Given the description of an element on the screen output the (x, y) to click on. 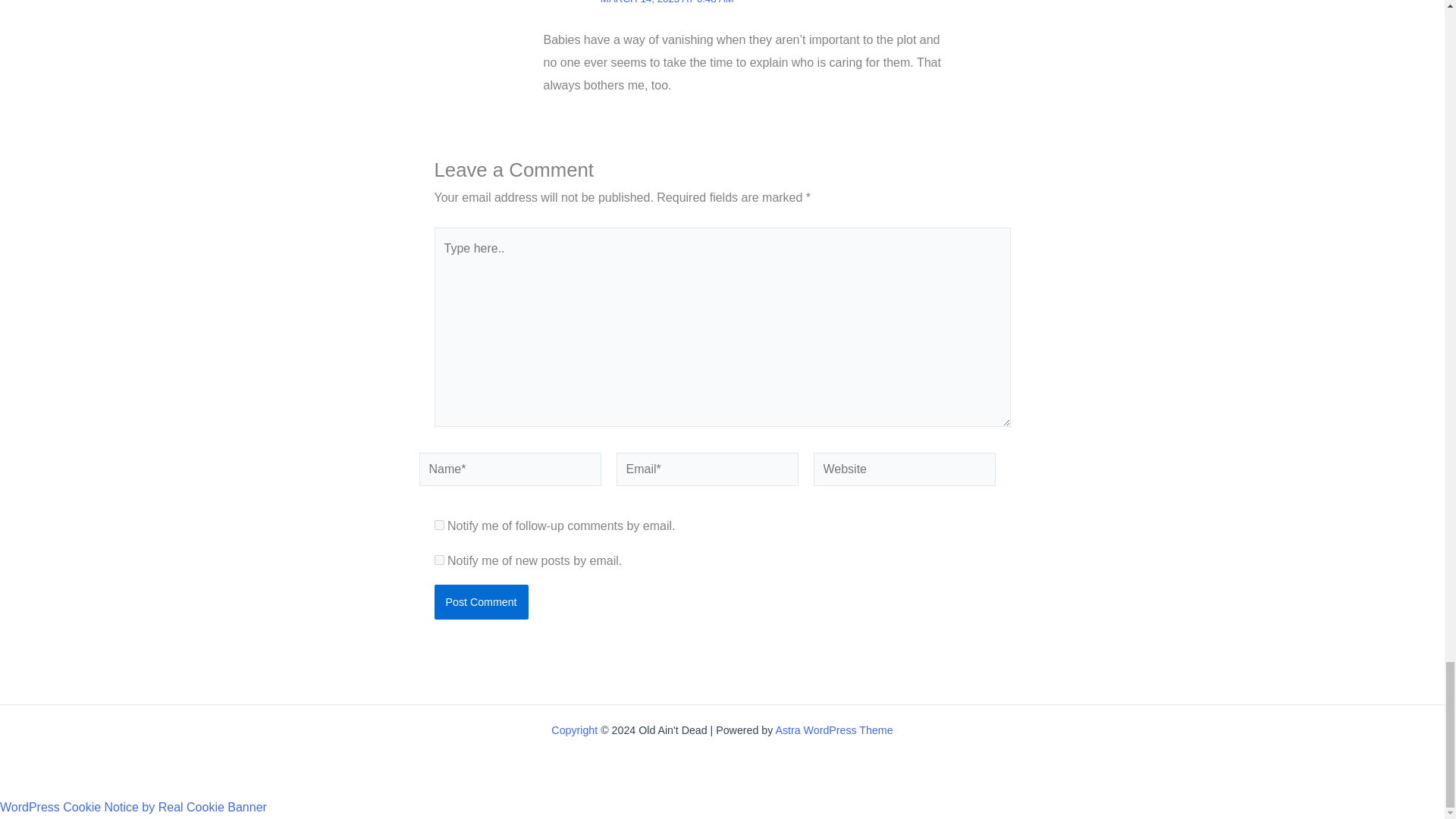
Post Comment (480, 601)
subscribe (438, 524)
subscribe (438, 560)
